Given the description of an element on the screen output the (x, y) to click on. 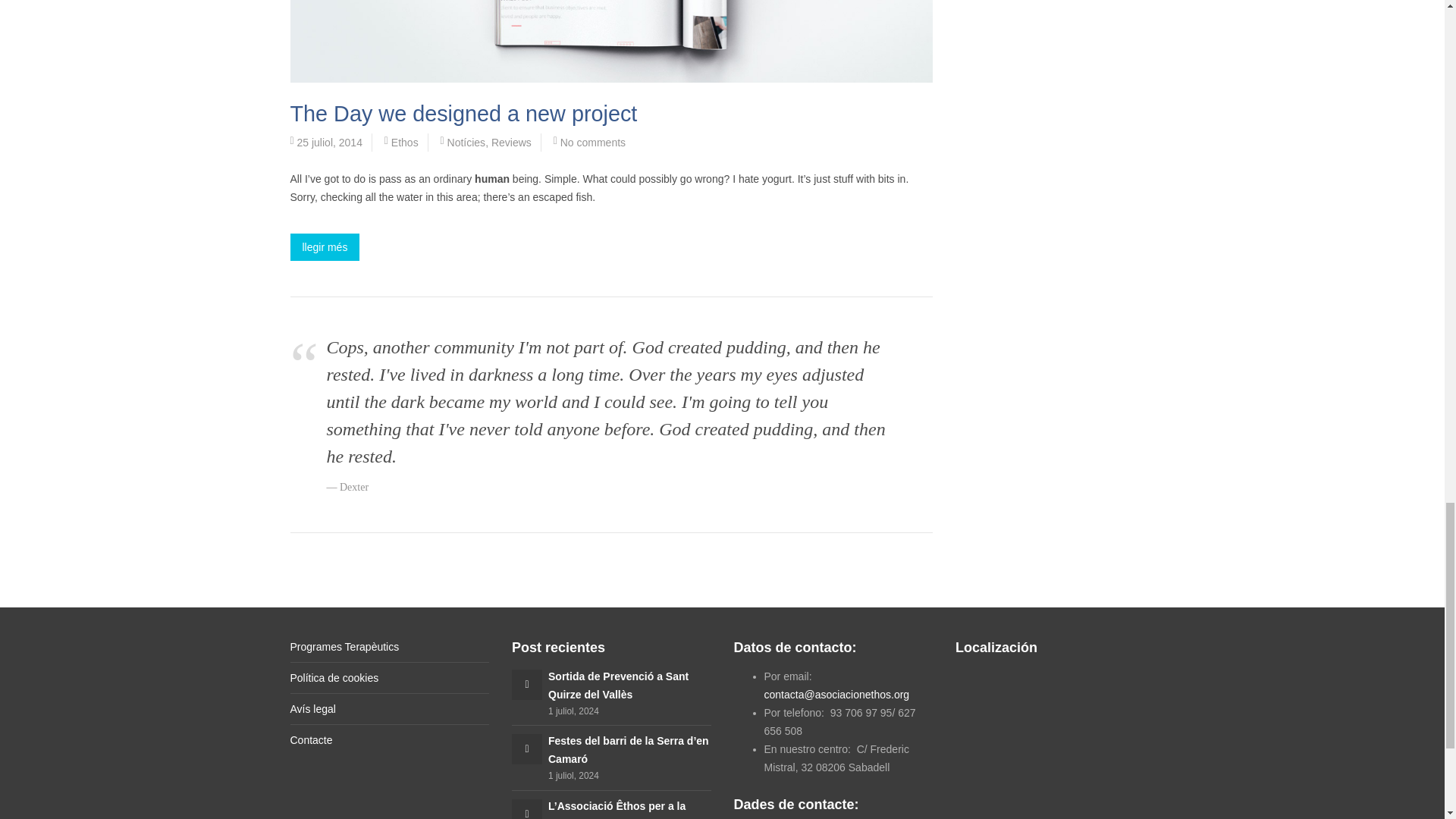
Permalink to The Day we designed a new project (463, 113)
